Given the description of an element on the screen output the (x, y) to click on. 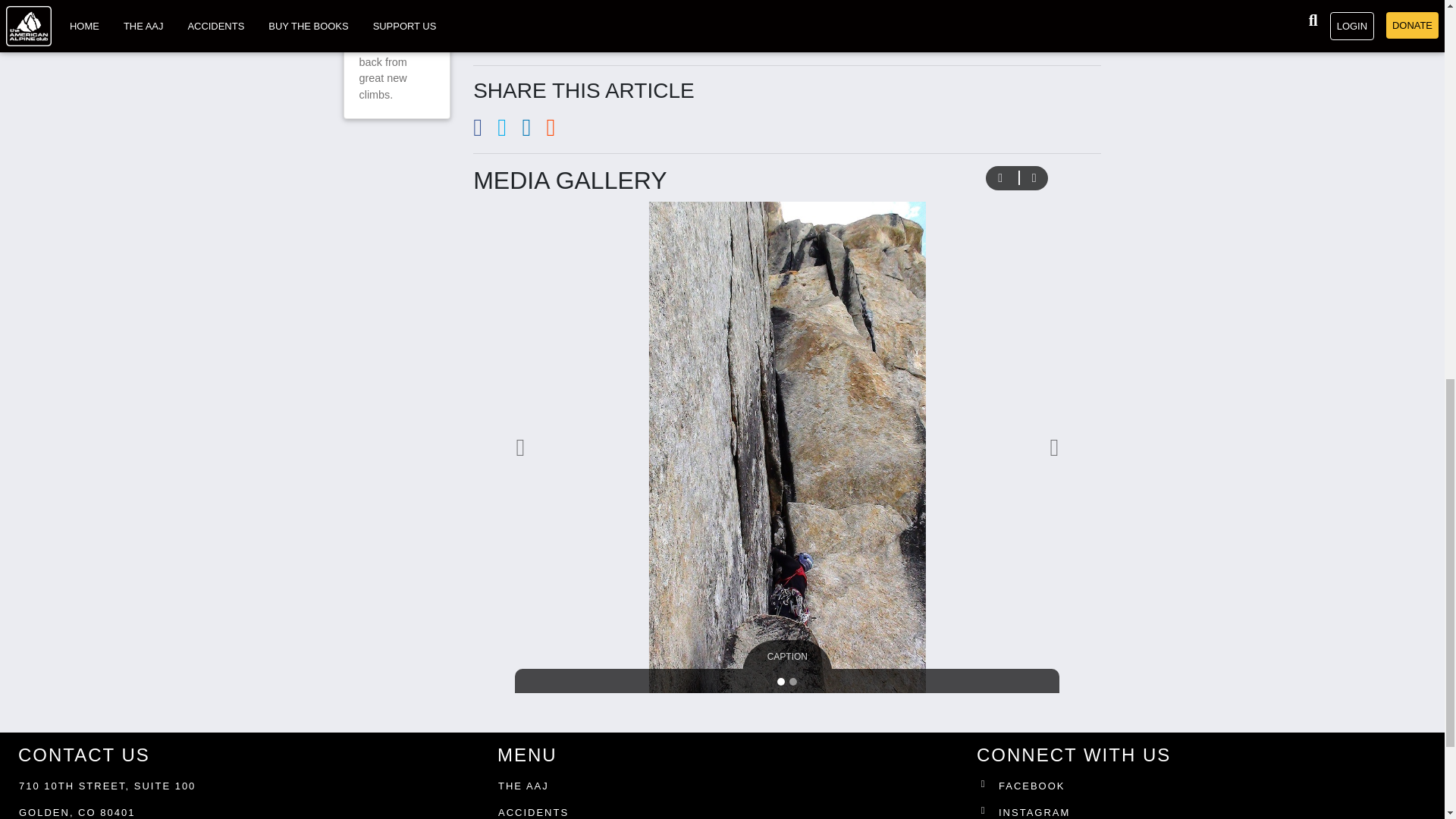
INSTAGRAM (1204, 812)
ACCIDENTS (533, 812)
Fullscreen (1034, 178)
FACEBOOK (1204, 789)
Pause (999, 178)
THE AAJ (522, 785)
Share to LinkedIn (533, 131)
CAPTION (786, 656)
Share to Facebook (485, 131)
Share to Reddit (557, 131)
